Given the description of an element on the screen output the (x, y) to click on. 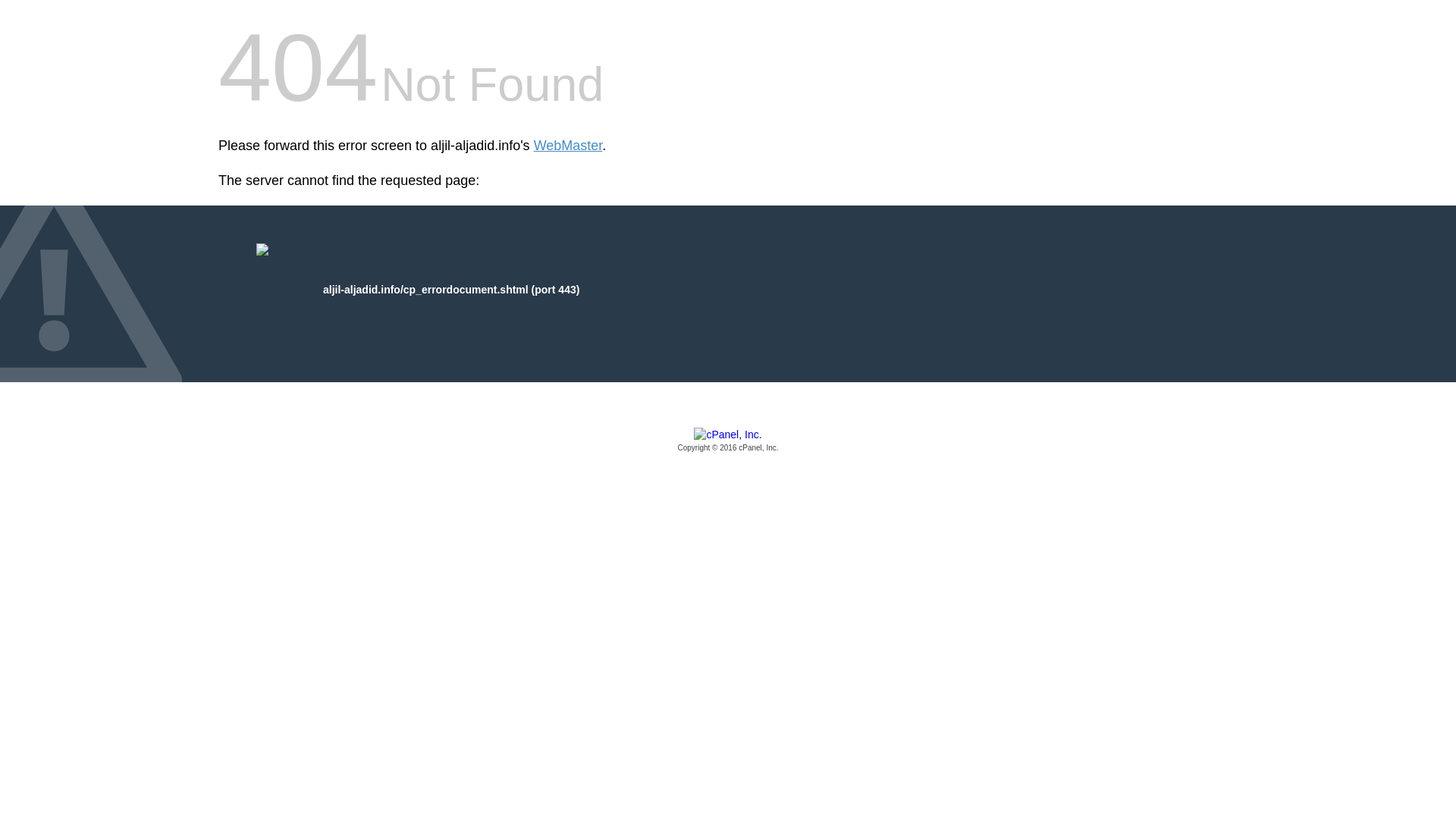
cPanel, Inc. (727, 440)
WebMaster (568, 145)
